Given the description of an element on the screen output the (x, y) to click on. 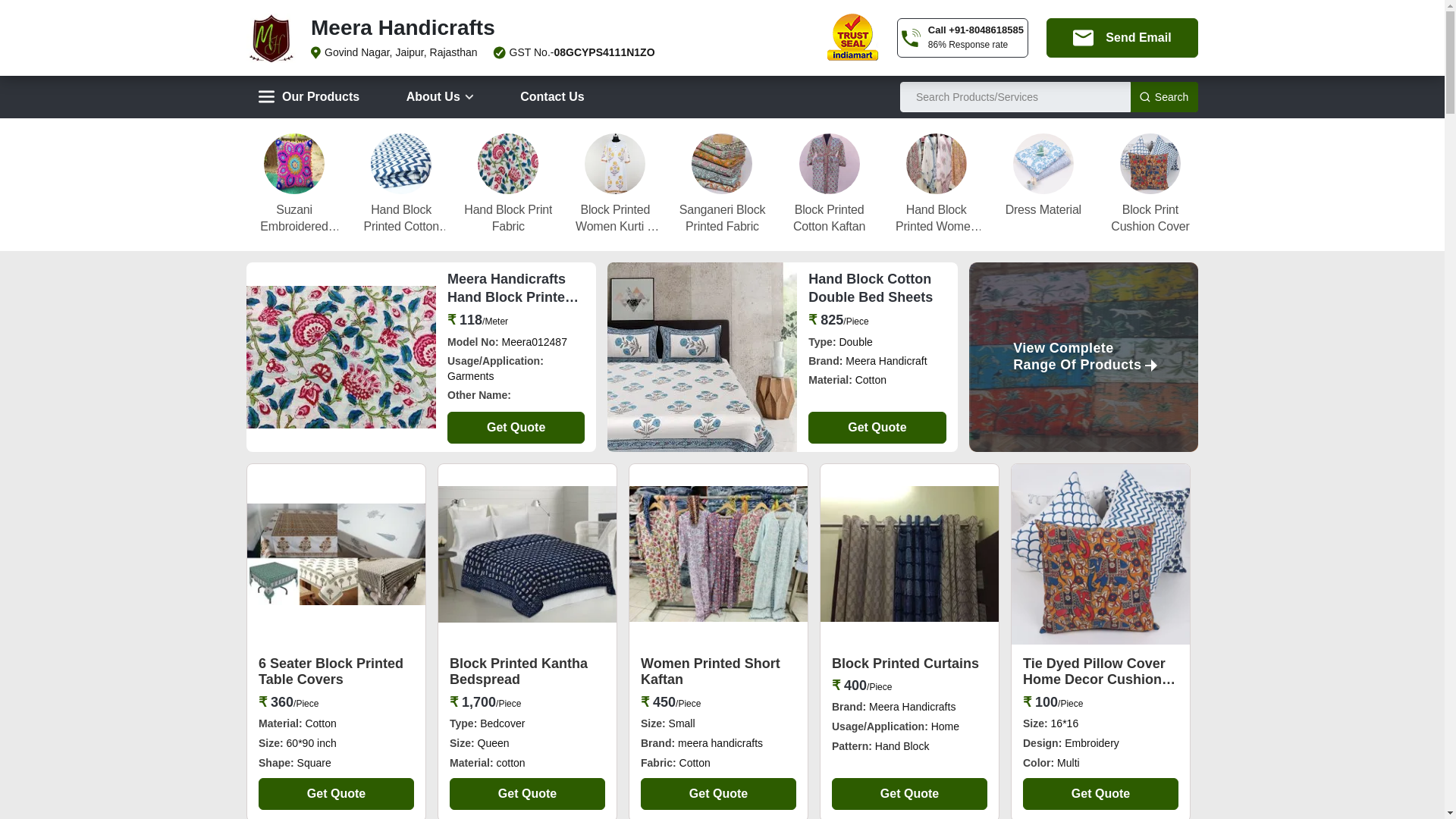
Suzani Embroidered Cushion Cover (293, 218)
Send Email (1122, 37)
About Us (440, 96)
Our Products (308, 96)
Contact Us (551, 96)
